Given the description of an element on the screen output the (x, y) to click on. 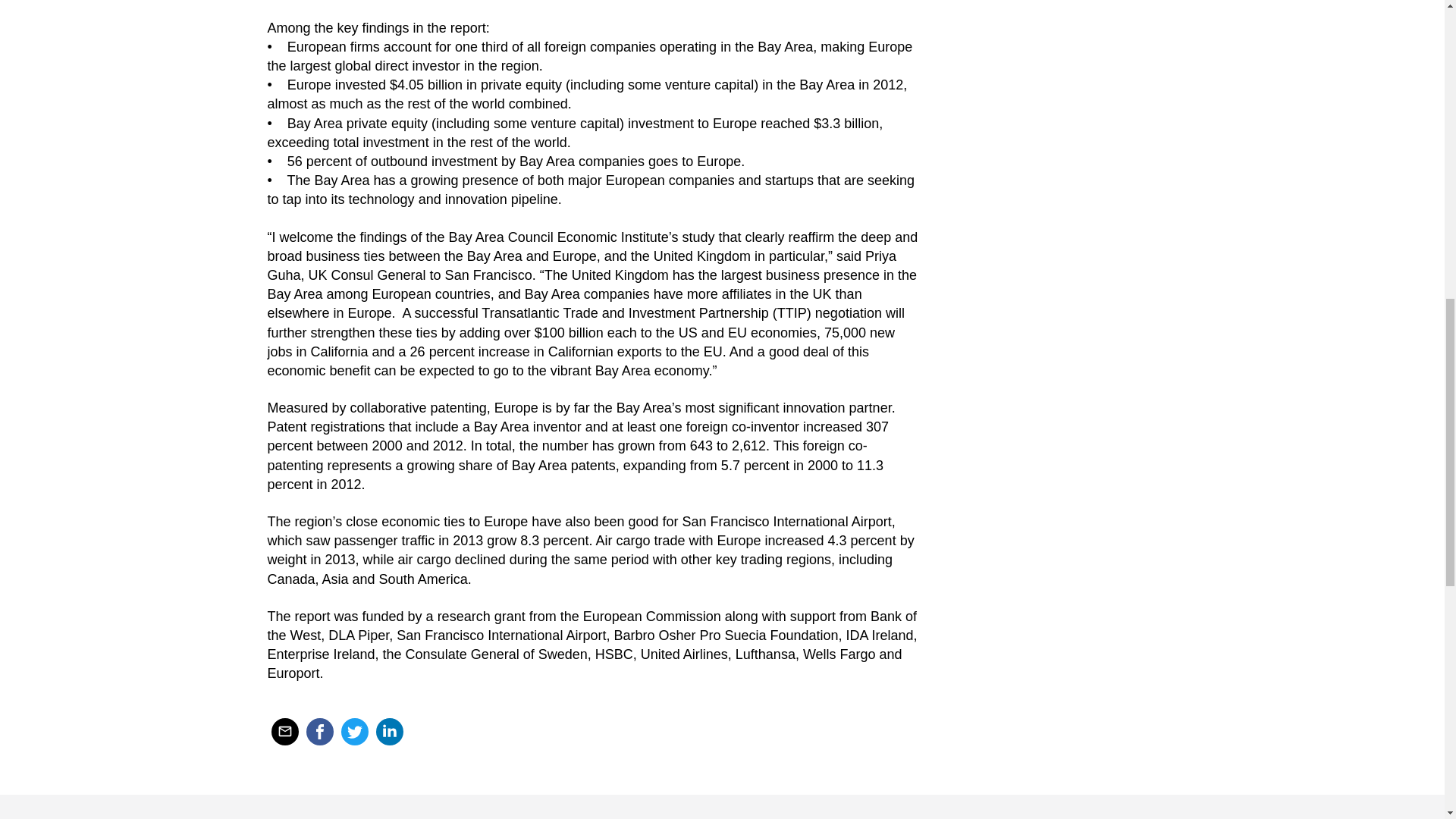
Share on Twitter (354, 730)
Share on LinkedIn (389, 730)
Share on Facebook (319, 730)
Email to a friend (284, 730)
